Given the description of an element on the screen output the (x, y) to click on. 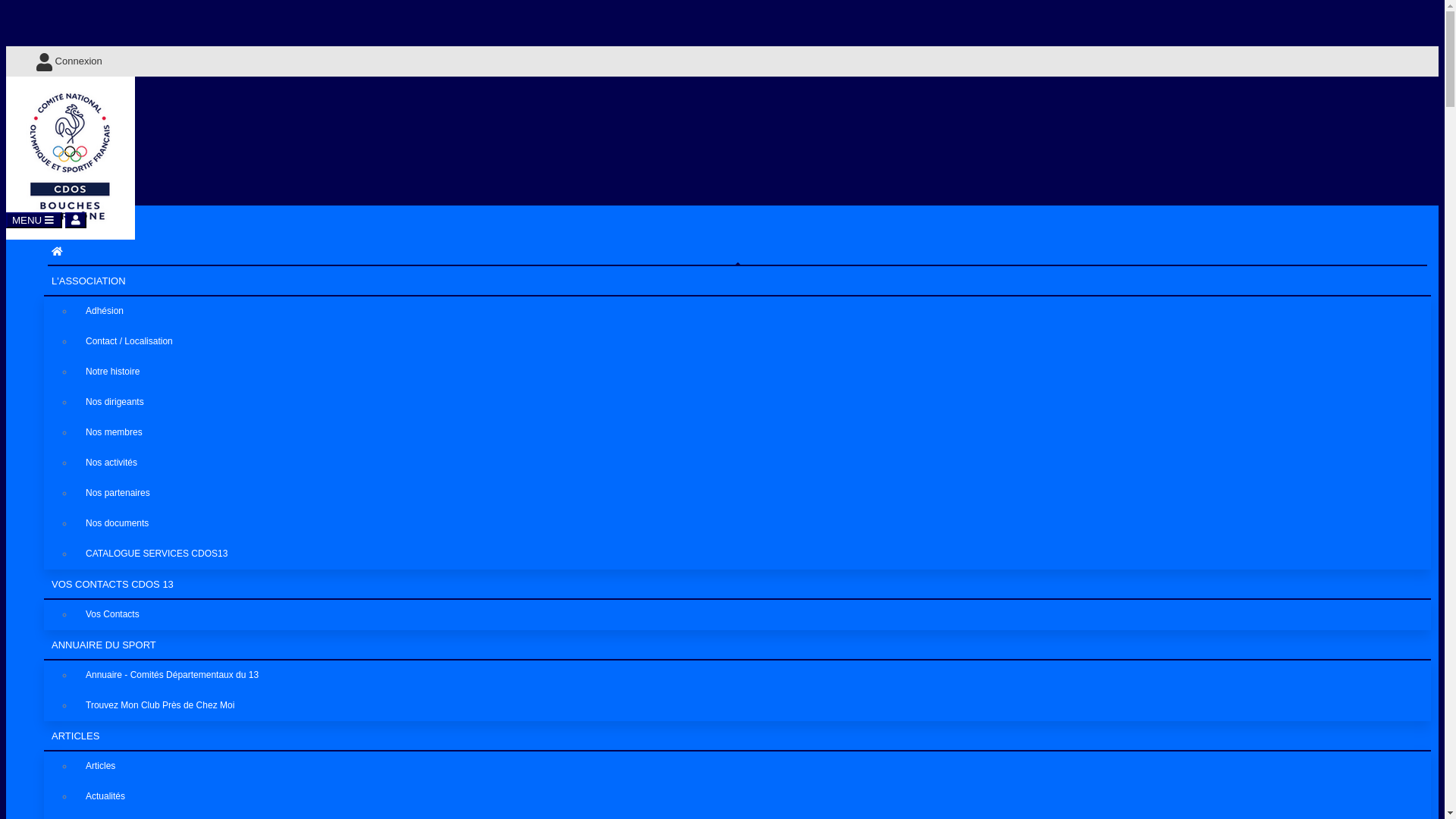
Notre histoire Element type: text (752, 371)
Contact / Localisation Element type: text (752, 341)
VOS CONTACTS CDOS 13 Element type: text (737, 584)
MENU Element type: text (34, 220)
L'ASSOCIATION Element type: text (737, 281)
ARTICLES Element type: text (737, 736)
Vos Contacts Element type: text (752, 614)
Toggle navigation Element type: text (75, 220)
Connexion Element type: text (731, 61)
CATALOGUE SERVICES CDOS13 Element type: text (752, 553)
ANNUAIRE DU SPORT Element type: text (737, 645)
Nos dirigeants Element type: text (752, 402)
Nos documents Element type: text (752, 523)
Articles Element type: text (752, 766)
Nos membres Element type: text (752, 432)
Nos partenaires Element type: text (752, 493)
